Given the description of an element on the screen output the (x, y) to click on. 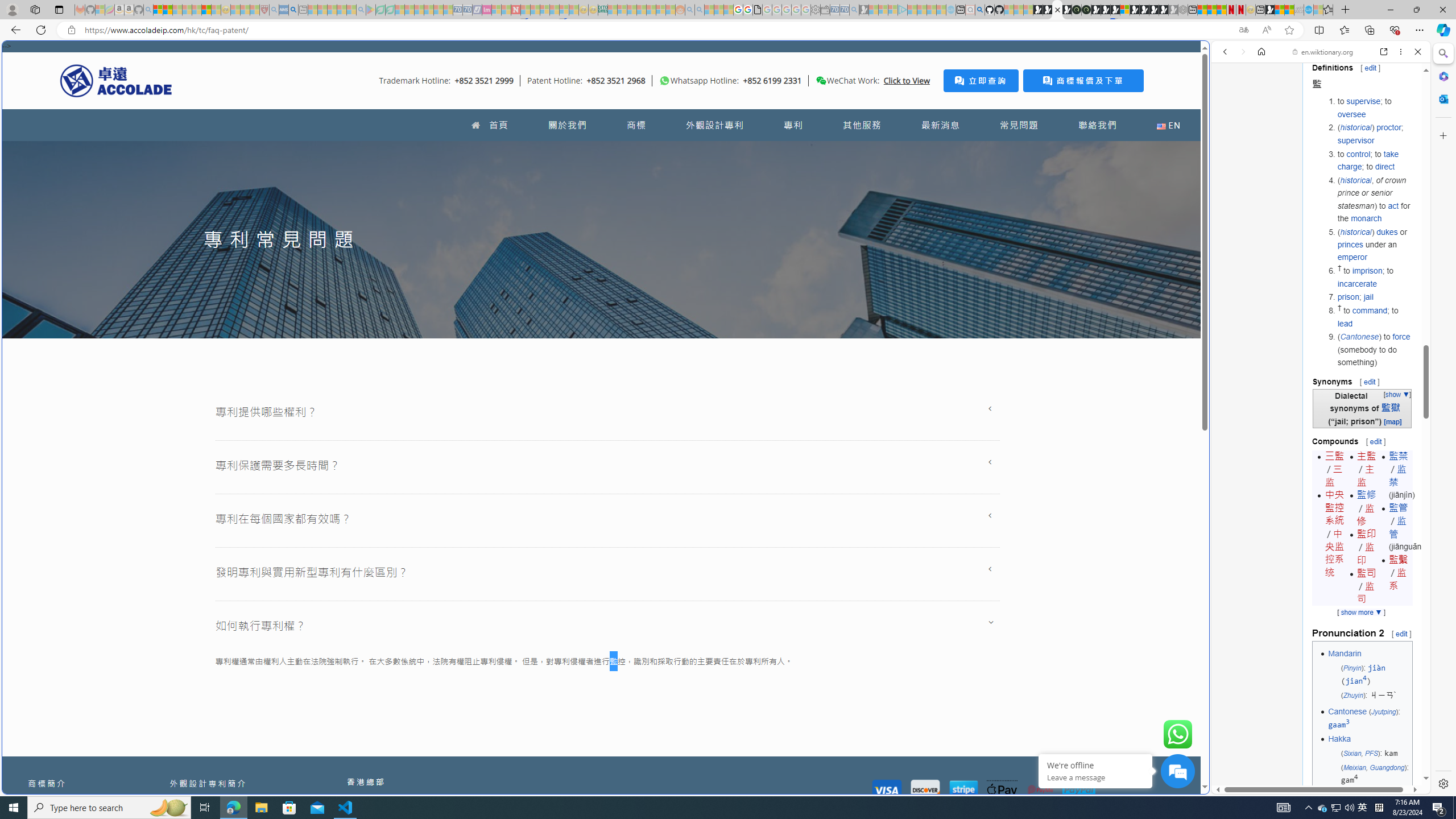
Future Focus Report 2024 (1085, 9)
force (1400, 336)
Close split screen (1208, 57)
edit (1400, 633)
